Given the description of an element on the screen output the (x, y) to click on. 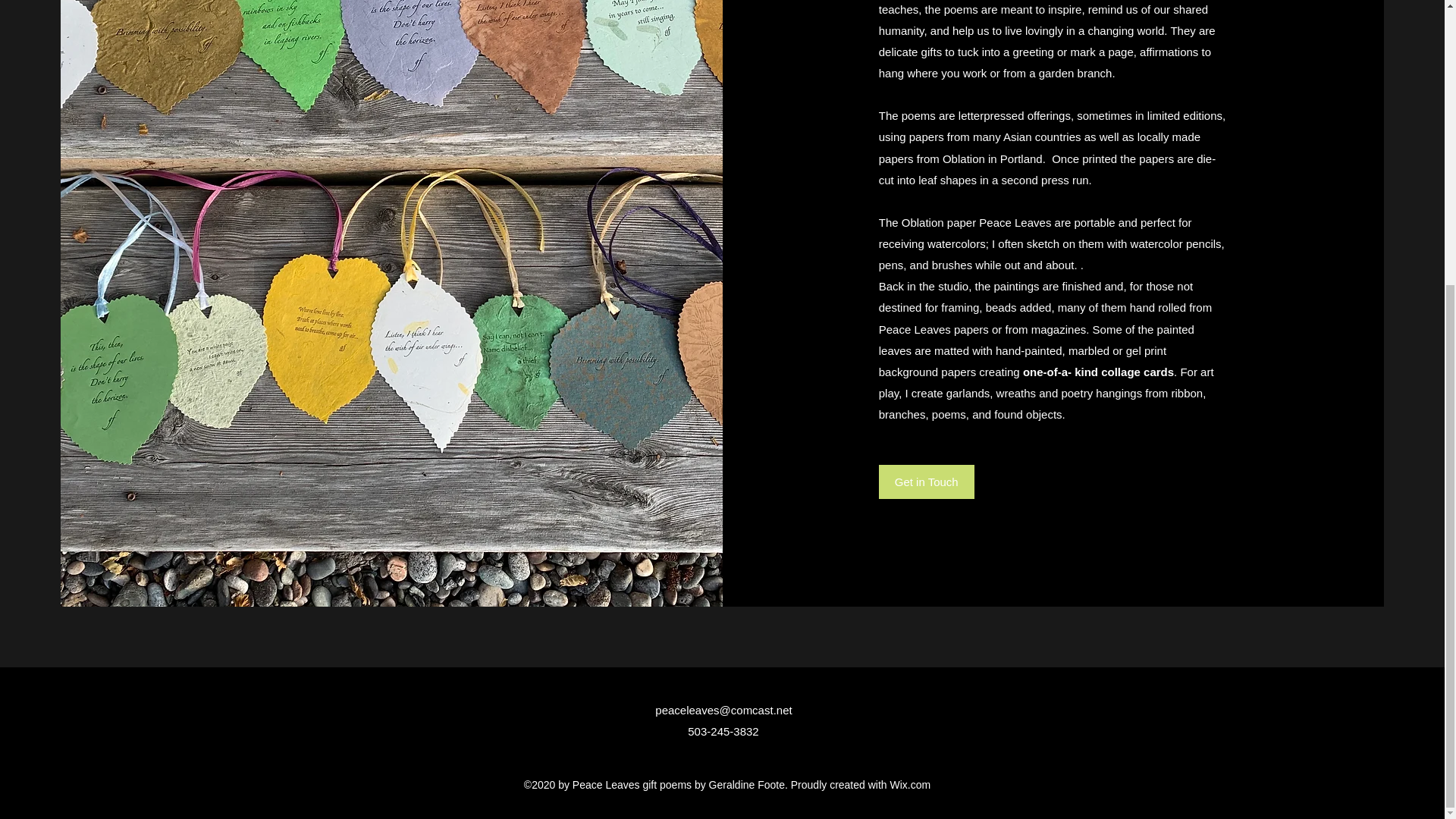
Get in Touch (926, 481)
